Given the description of an element on the screen output the (x, y) to click on. 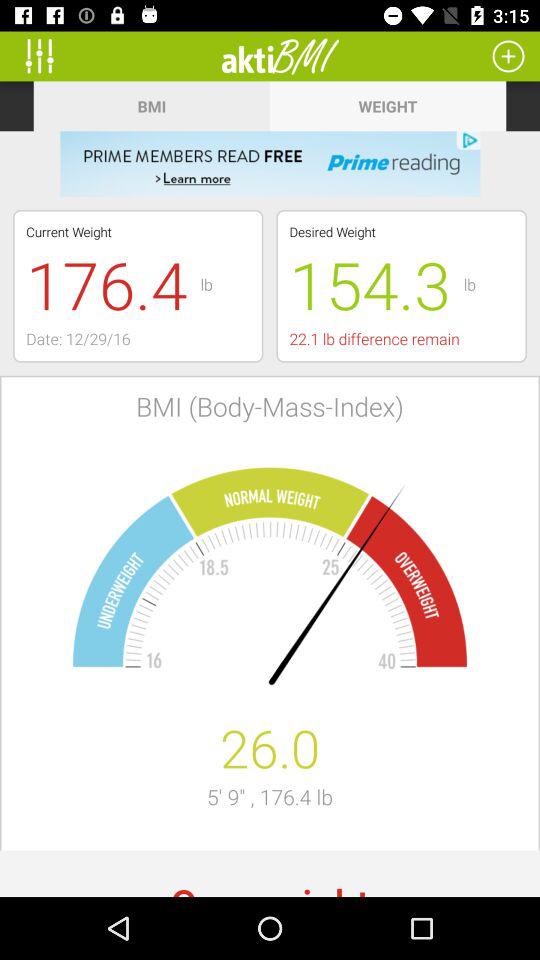
add more (508, 56)
